Given the description of an element on the screen output the (x, y) to click on. 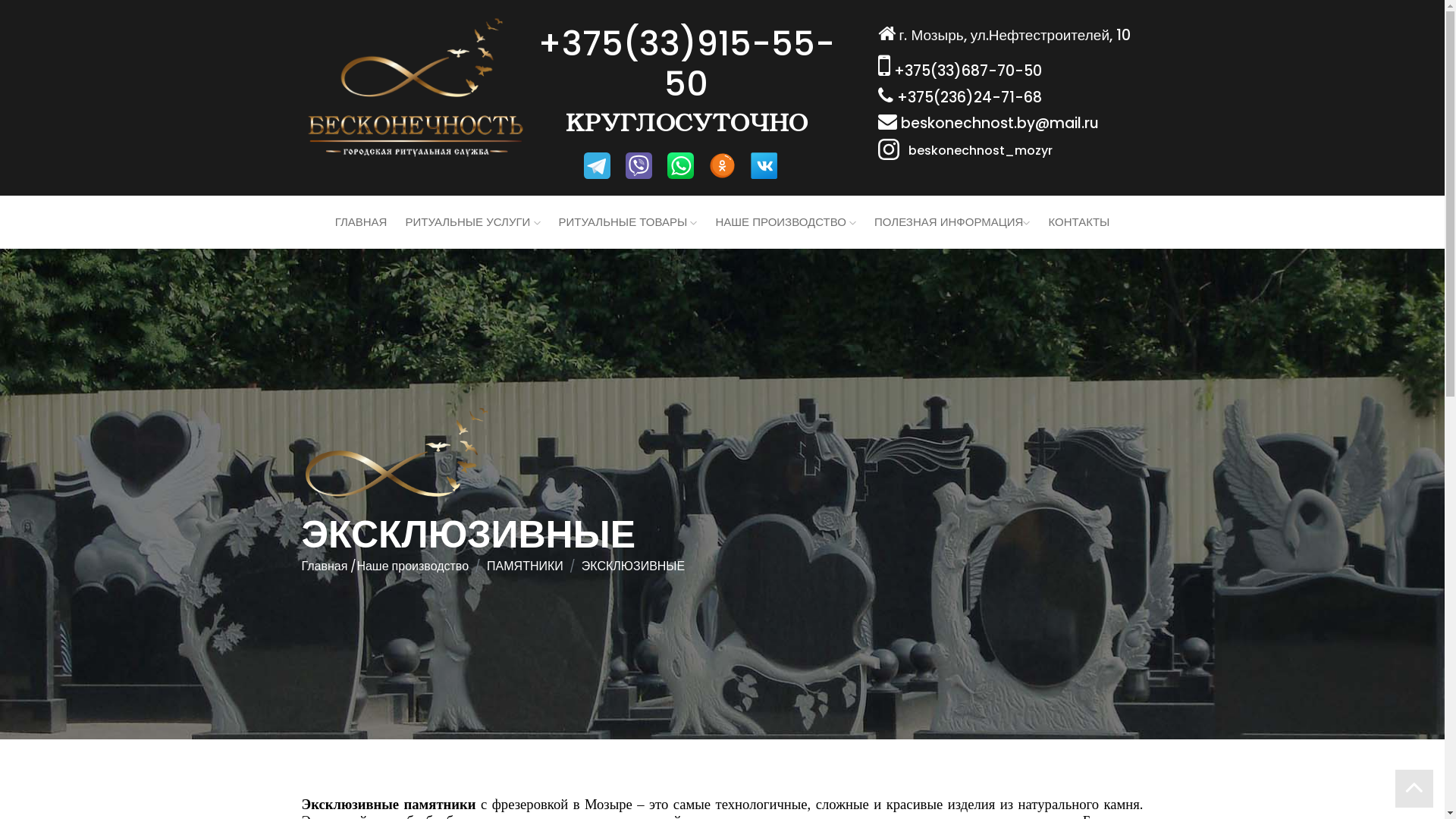
+375(236)24-71-68 Element type: text (967, 97)
beskonechnost_mozyr Element type: text (971, 149)
+375(33)687-70-50 Element type: text (965, 70)
+375(33)915-55-50 Element type: text (685, 64)
beskonechnost.by@mail.ru Element type: text (997, 122)
